Given the description of an element on the screen output the (x, y) to click on. 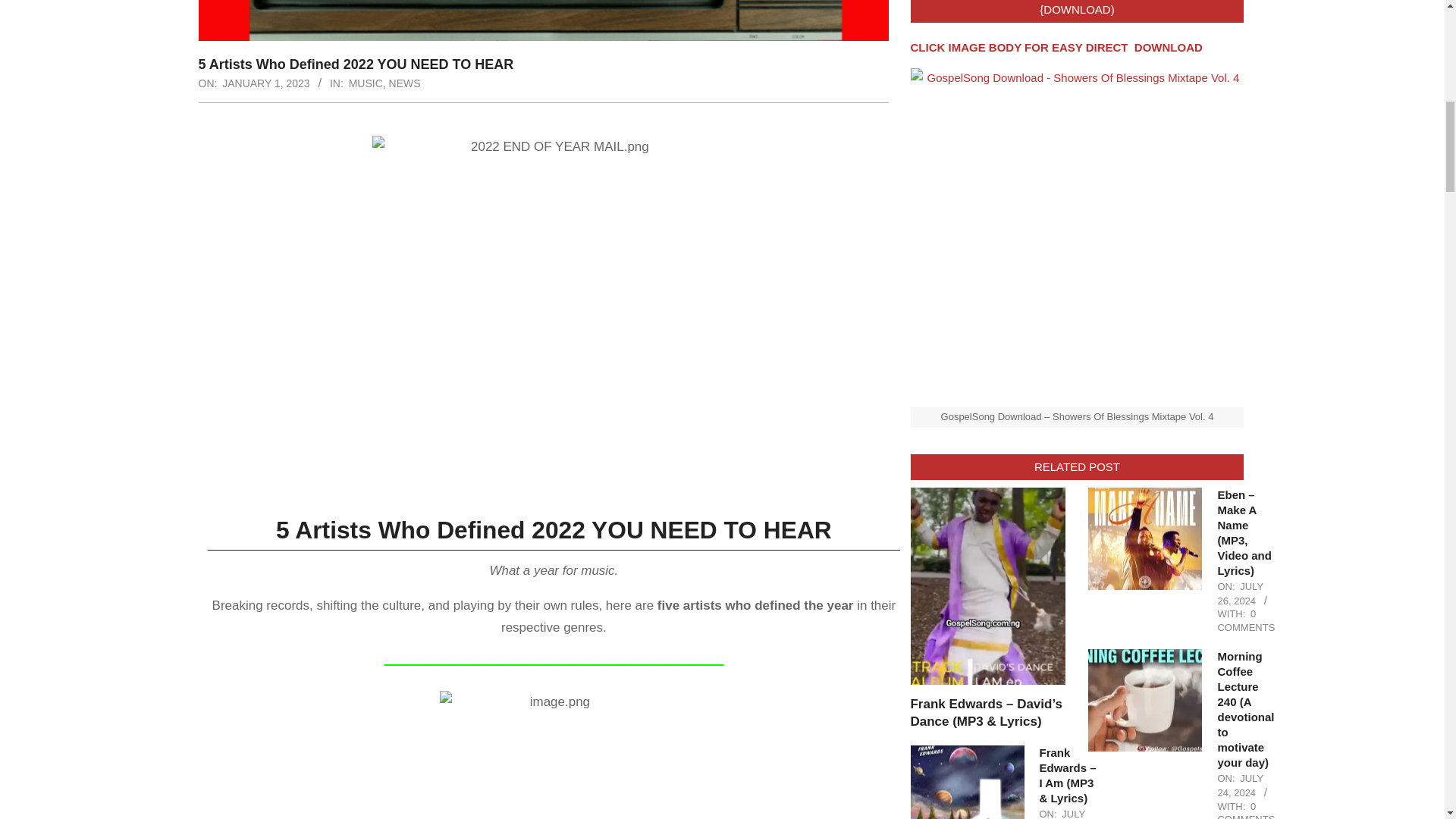
Sunday, January 1, 2023, 7:38 am (265, 82)
